Given the description of an element on the screen output the (x, y) to click on. 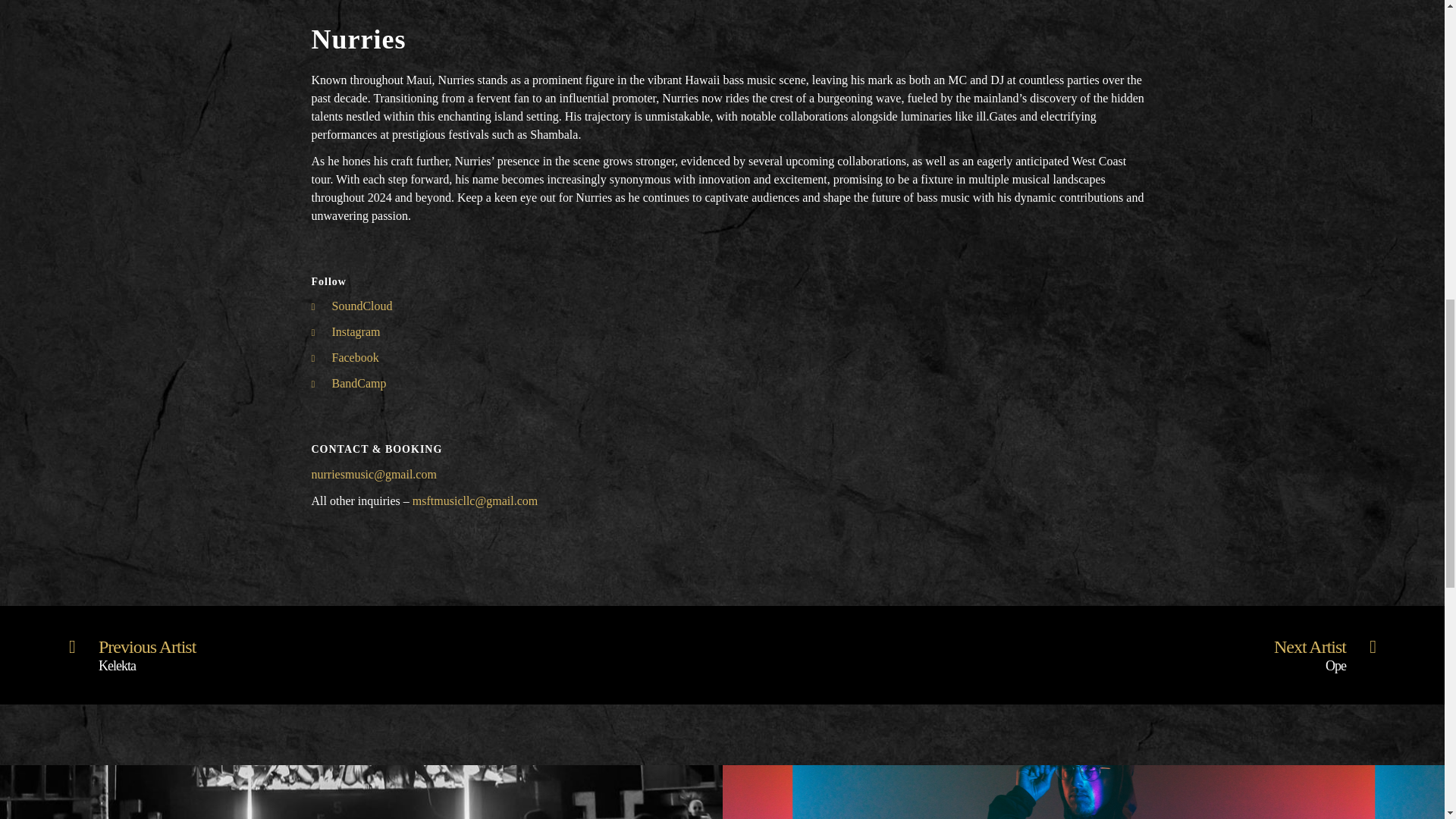
Facebook (344, 357)
EVENTS (361, 816)
SoundCloud (351, 305)
ARTISTS (1083, 816)
Instagram (345, 331)
BandCamp (348, 382)
